Given the description of an element on the screen output the (x, y) to click on. 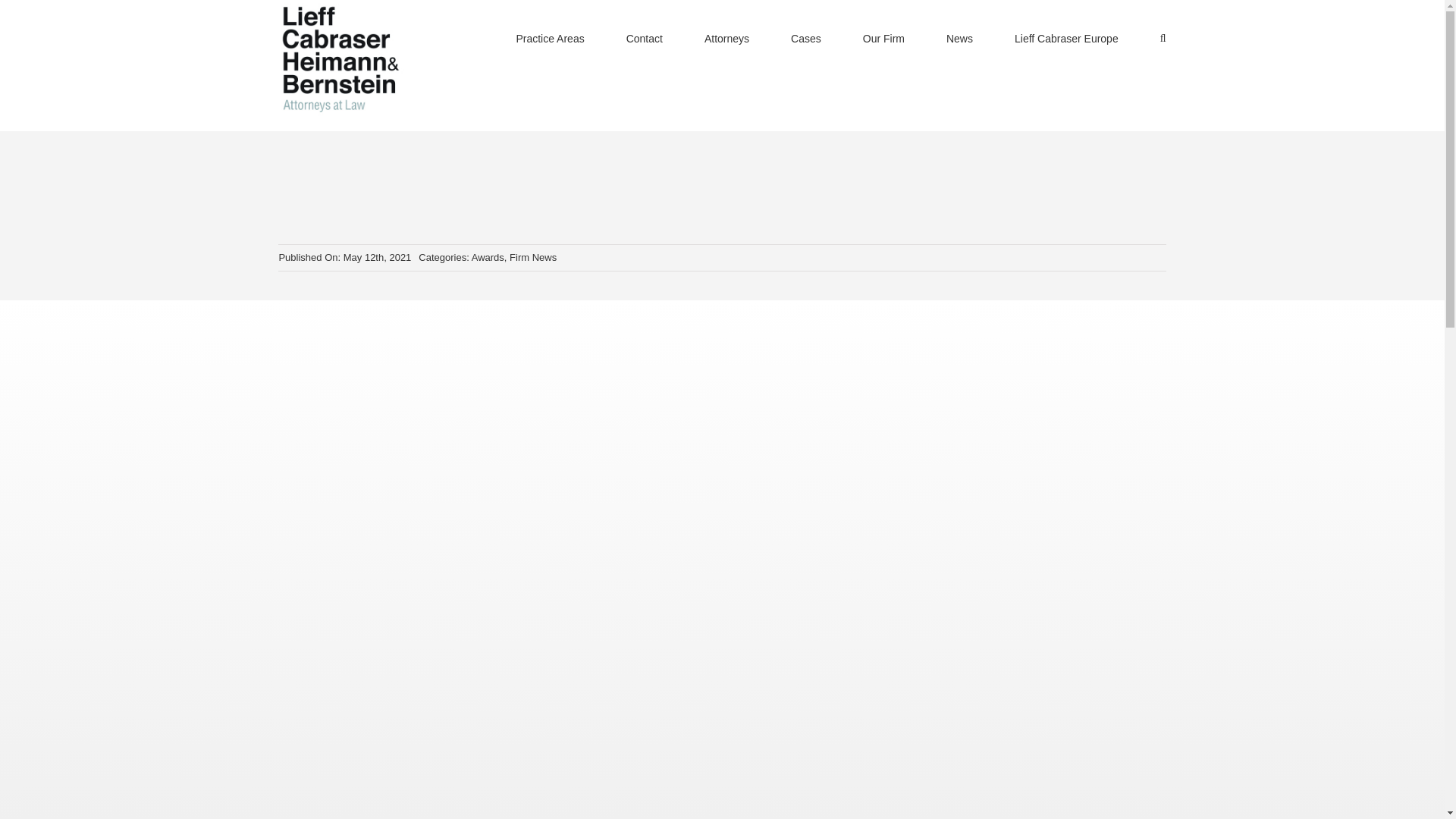
Lieff Cabraser Europe (1066, 37)
Firm News (532, 256)
Awards (487, 256)
Practice Areas (549, 37)
